Given the description of an element on the screen output the (x, y) to click on. 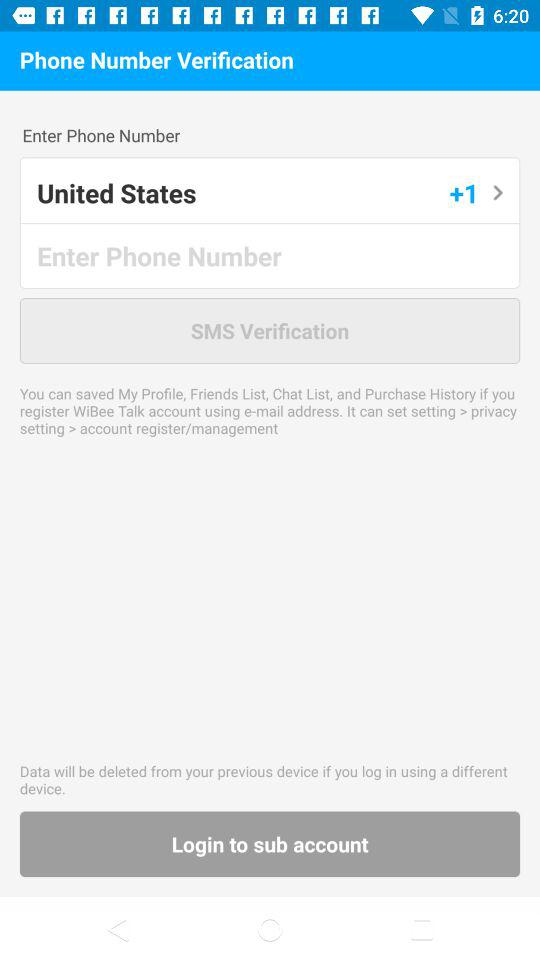
scroll until the login to sub (269, 844)
